Given the description of an element on the screen output the (x, y) to click on. 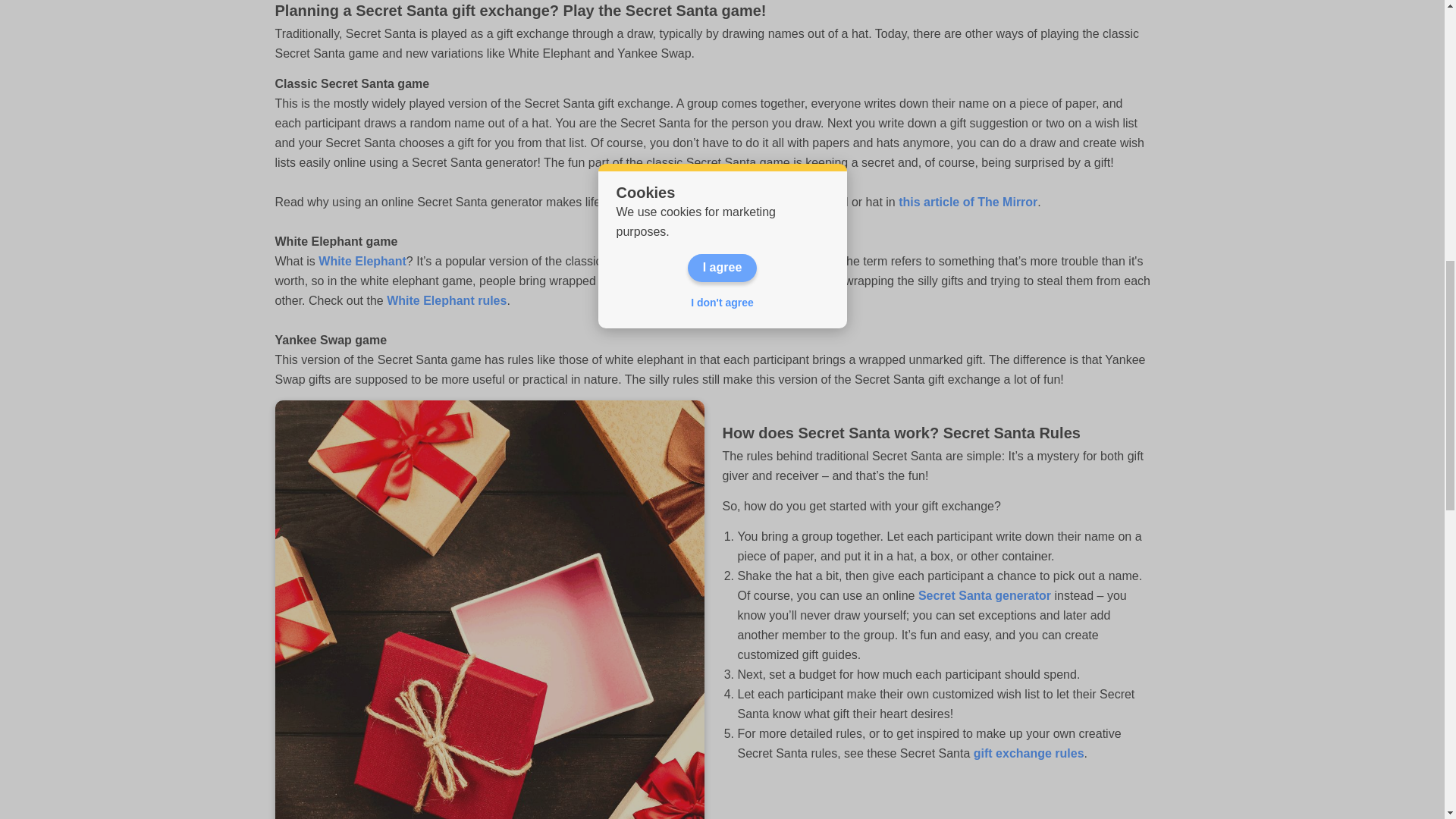
Secret Santa generator (984, 594)
White Elephant rules (446, 300)
gift exchange rules (1026, 753)
White Elephant (362, 260)
this article of The Mirror (967, 201)
